Given the description of an element on the screen output the (x, y) to click on. 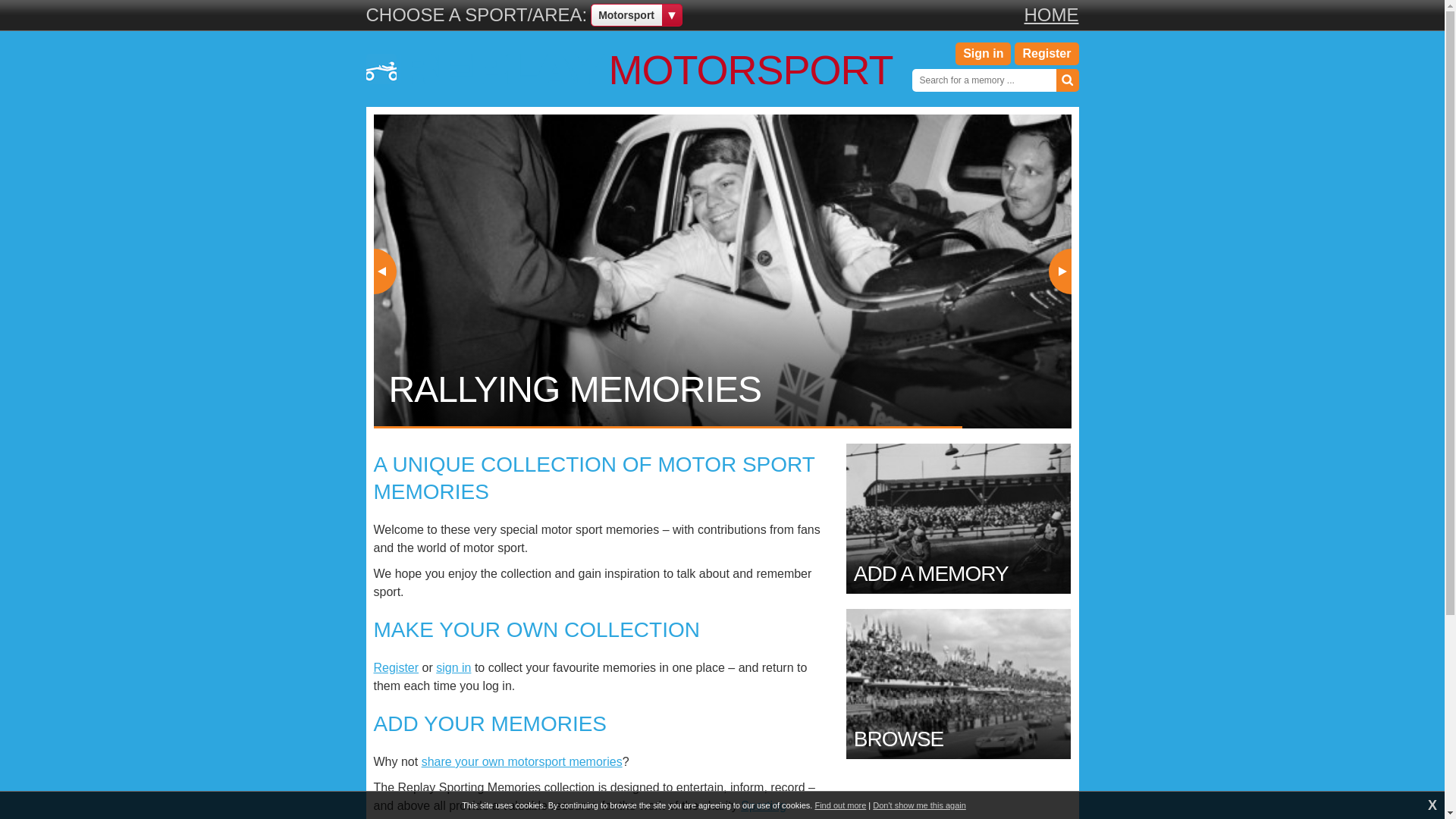
Register (395, 667)
Sign in (982, 53)
Sporting Memories (579, 809)
ADD A MEMORY (958, 518)
HOME (1050, 14)
BROWSE (958, 684)
Register (1046, 53)
sign in (452, 667)
MOTORSPORT (628, 69)
share your own motorsport memories (522, 761)
